Given the description of an element on the screen output the (x, y) to click on. 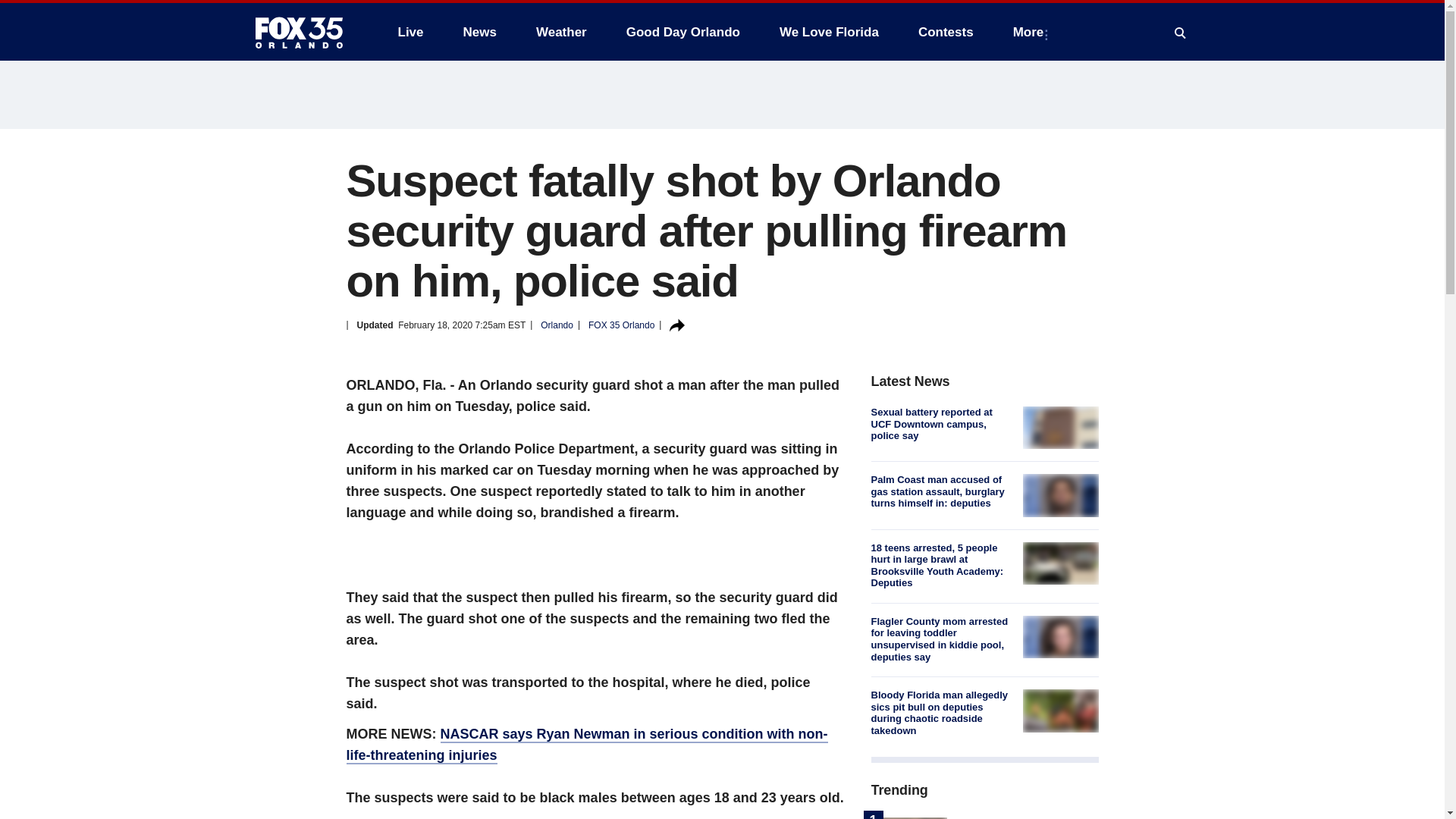
Contests (945, 32)
Live (410, 32)
More (1031, 32)
News (479, 32)
We Love Florida (829, 32)
Weather (561, 32)
Good Day Orlando (683, 32)
